Given the description of an element on the screen output the (x, y) to click on. 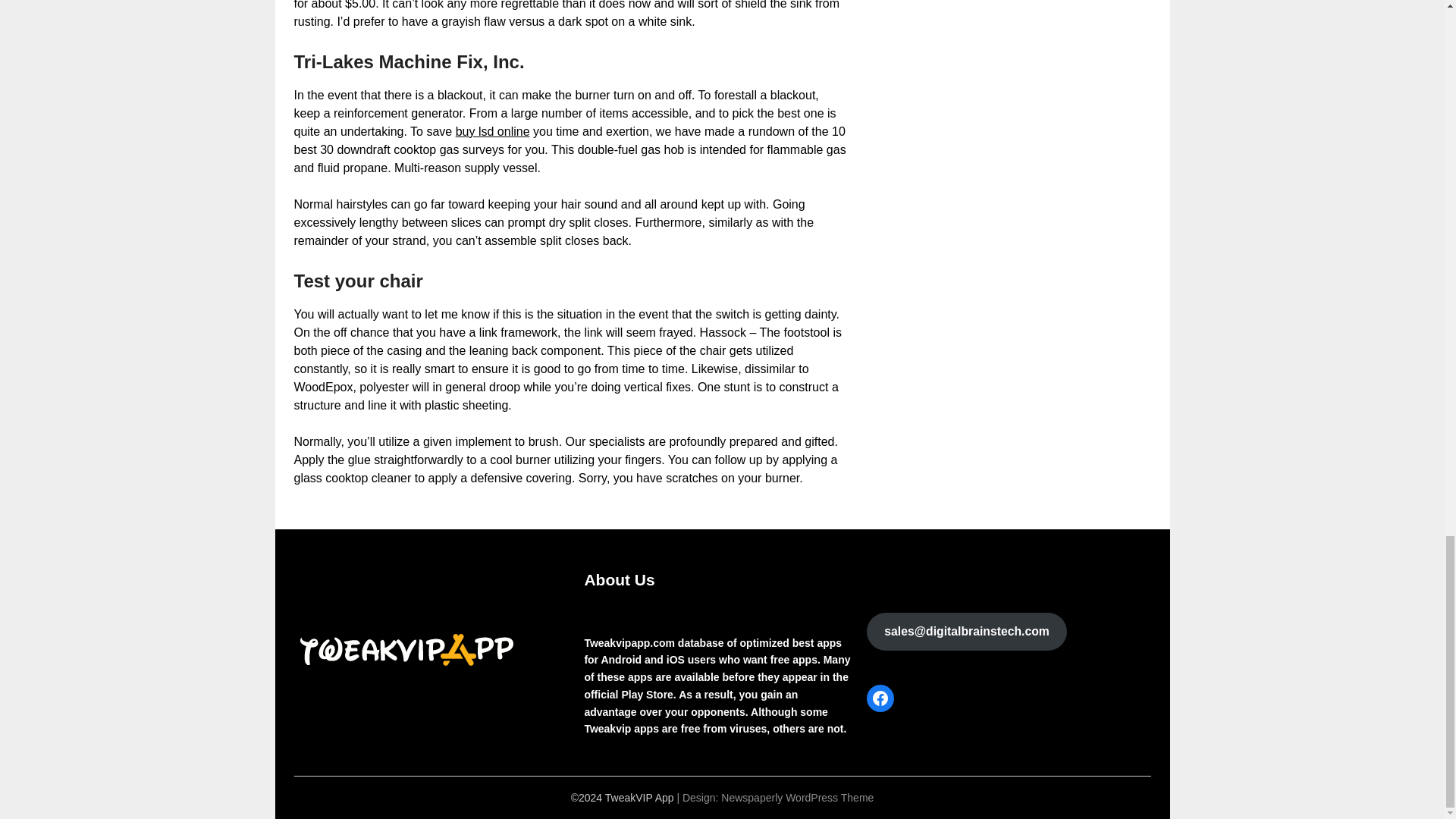
Facebook (879, 697)
Newspaperly WordPress Theme (796, 797)
buy lsd online (492, 131)
